Given the description of an element on the screen output the (x, y) to click on. 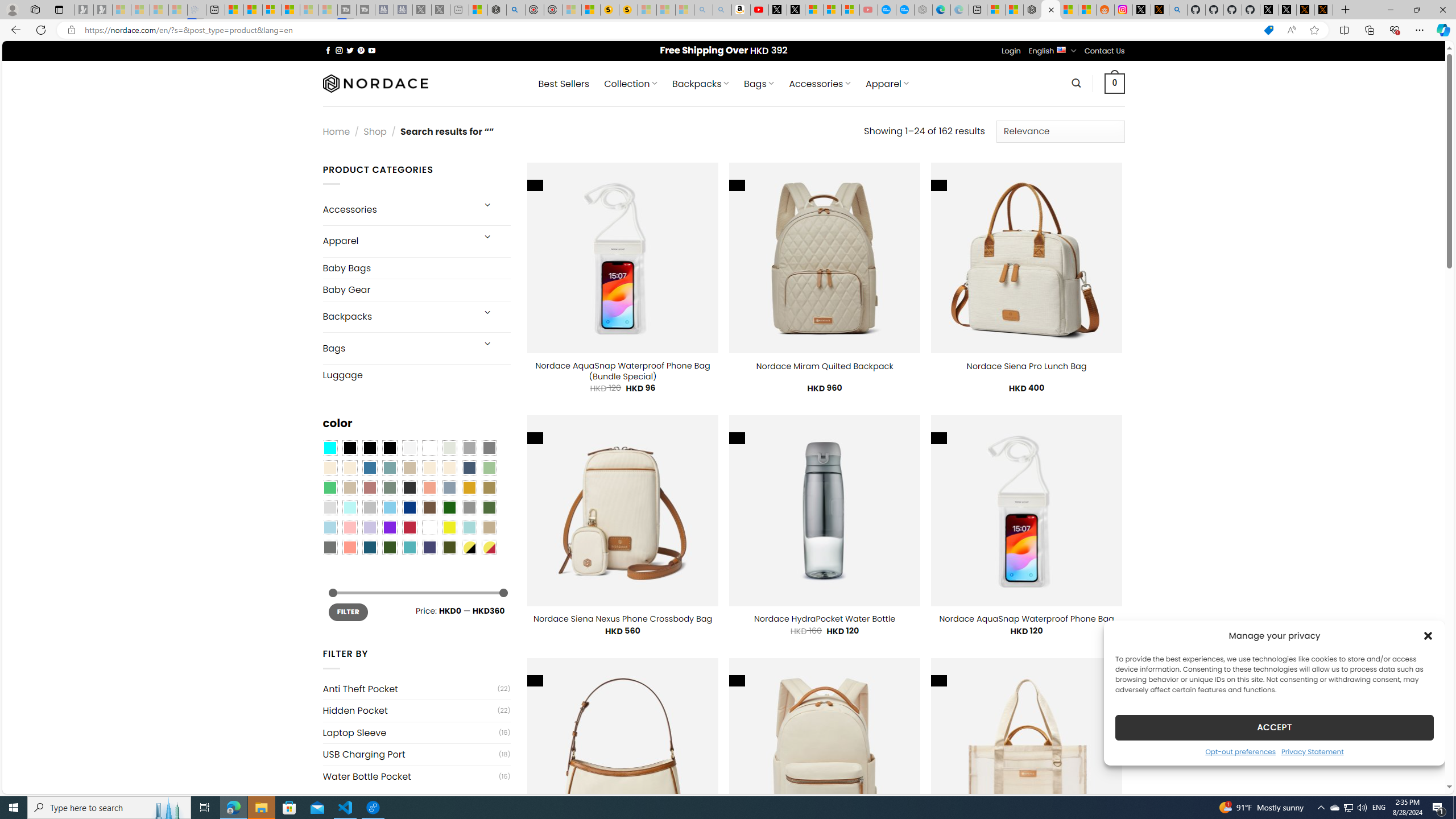
Emerald Green (329, 487)
Blue Sage (389, 467)
Class: cmplz-close (1428, 635)
Collections (1369, 29)
Light Blue (329, 527)
Contact Us (1104, 50)
Ash Gray (449, 447)
Profile / X (1268, 9)
Light Taupe (349, 487)
Dark Green (449, 507)
Search (1076, 83)
USB Charging Port(18) (416, 754)
Anti Theft Pocket (409, 689)
  Best Sellers (563, 83)
